Given the description of an element on the screen output the (x, y) to click on. 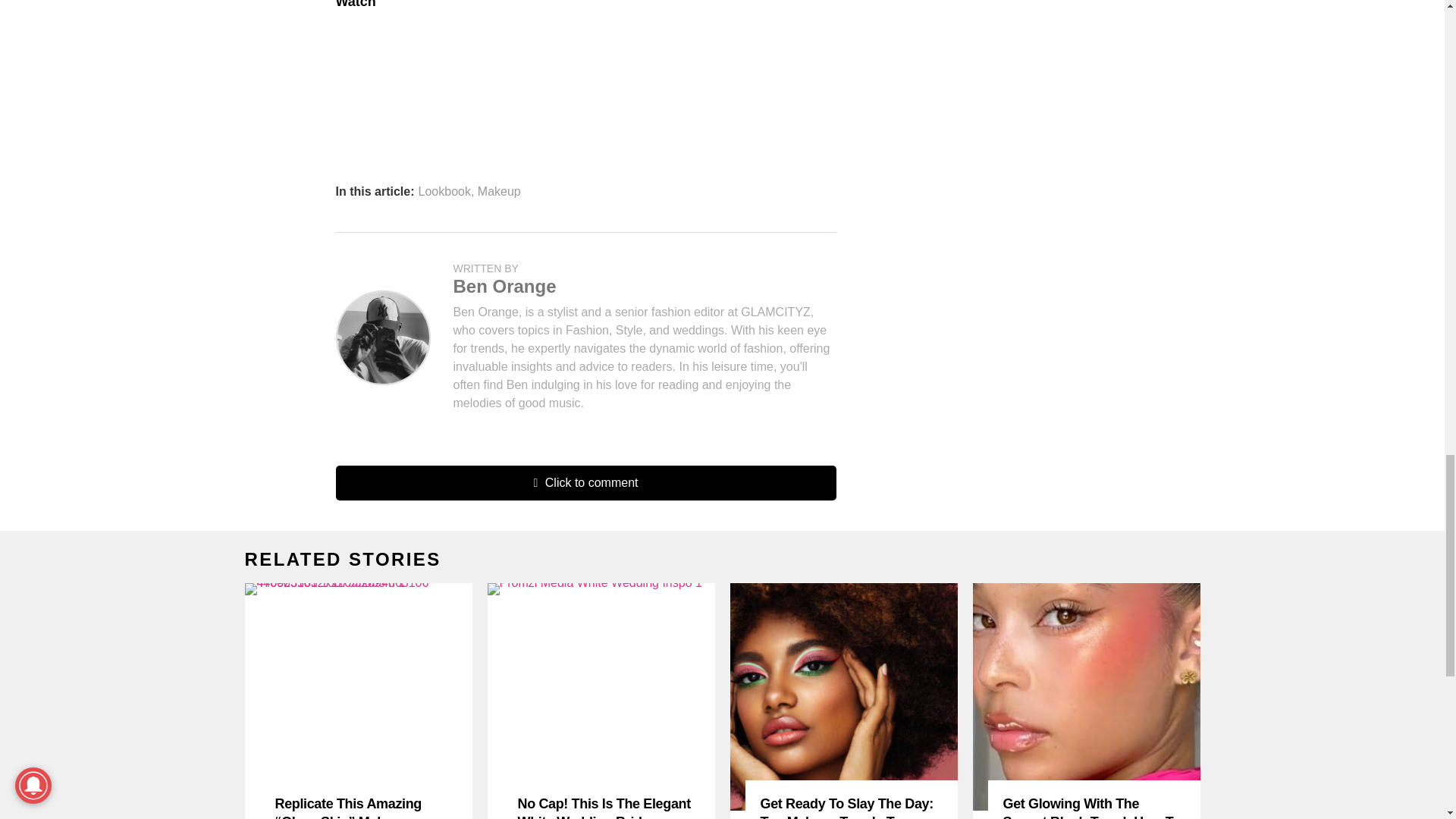
Posts by Ben Orange (504, 286)
